Given the description of an element on the screen output the (x, y) to click on. 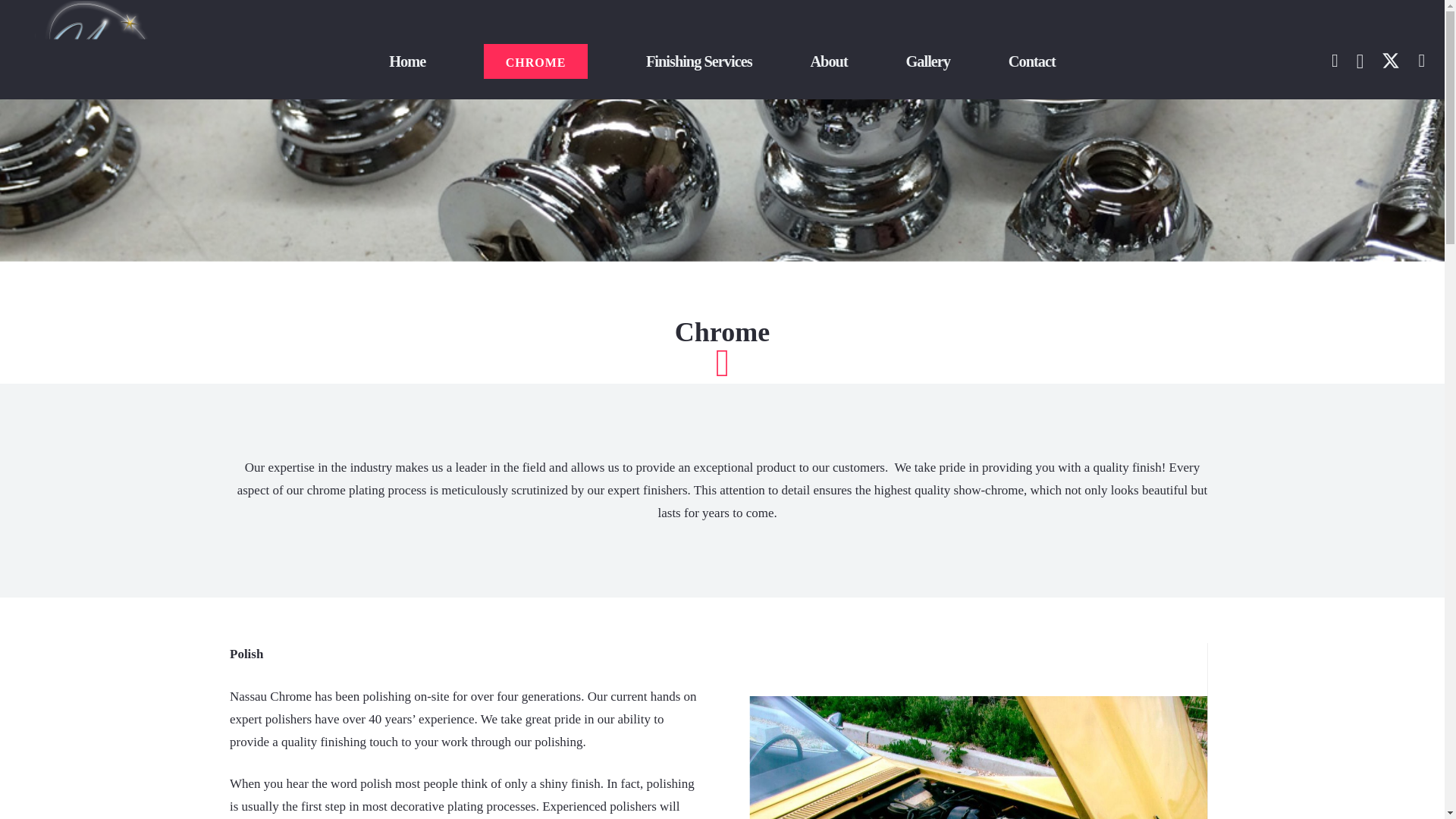
CHROME (535, 61)
About (828, 61)
Twitter (1390, 61)
Gallery (927, 61)
Home (406, 61)
Contact (1031, 61)
Finishing Services (698, 61)
